Given the description of an element on the screen output the (x, y) to click on. 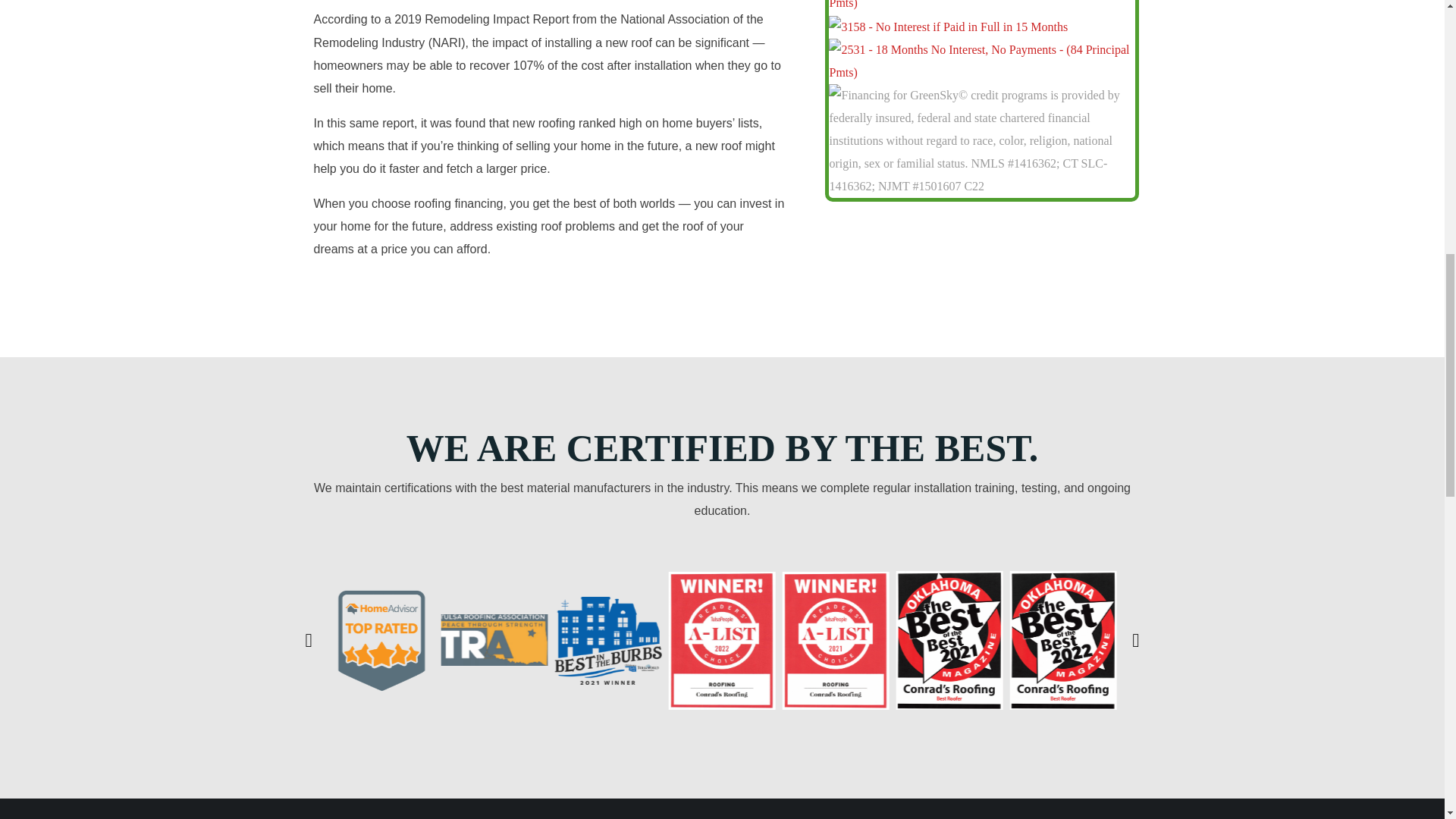
ABOUT (1063, 812)
FINANCING (729, 812)
ROOFING (382, 812)
CLAIMS (900, 812)
GUTTERS (552, 812)
